Given the description of an element on the screen output the (x, y) to click on. 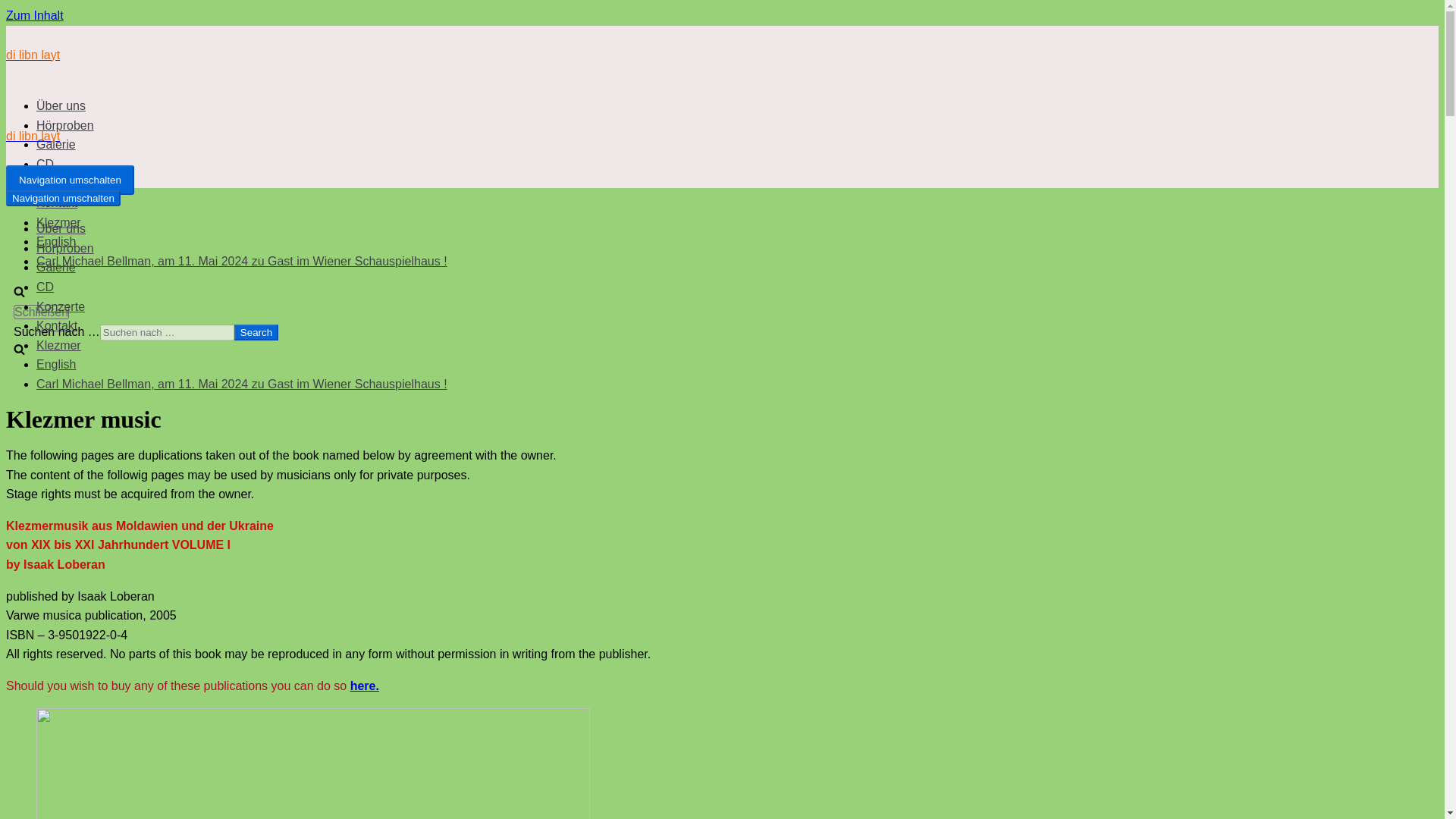
Navigation umschalten (69, 179)
Kontakt (56, 325)
Konzerte (60, 306)
Zum Inhalt (34, 15)
English (55, 364)
here. (364, 685)
Search (256, 332)
Galerie (55, 144)
Klezmer (58, 345)
